Given the description of an element on the screen output the (x, y) to click on. 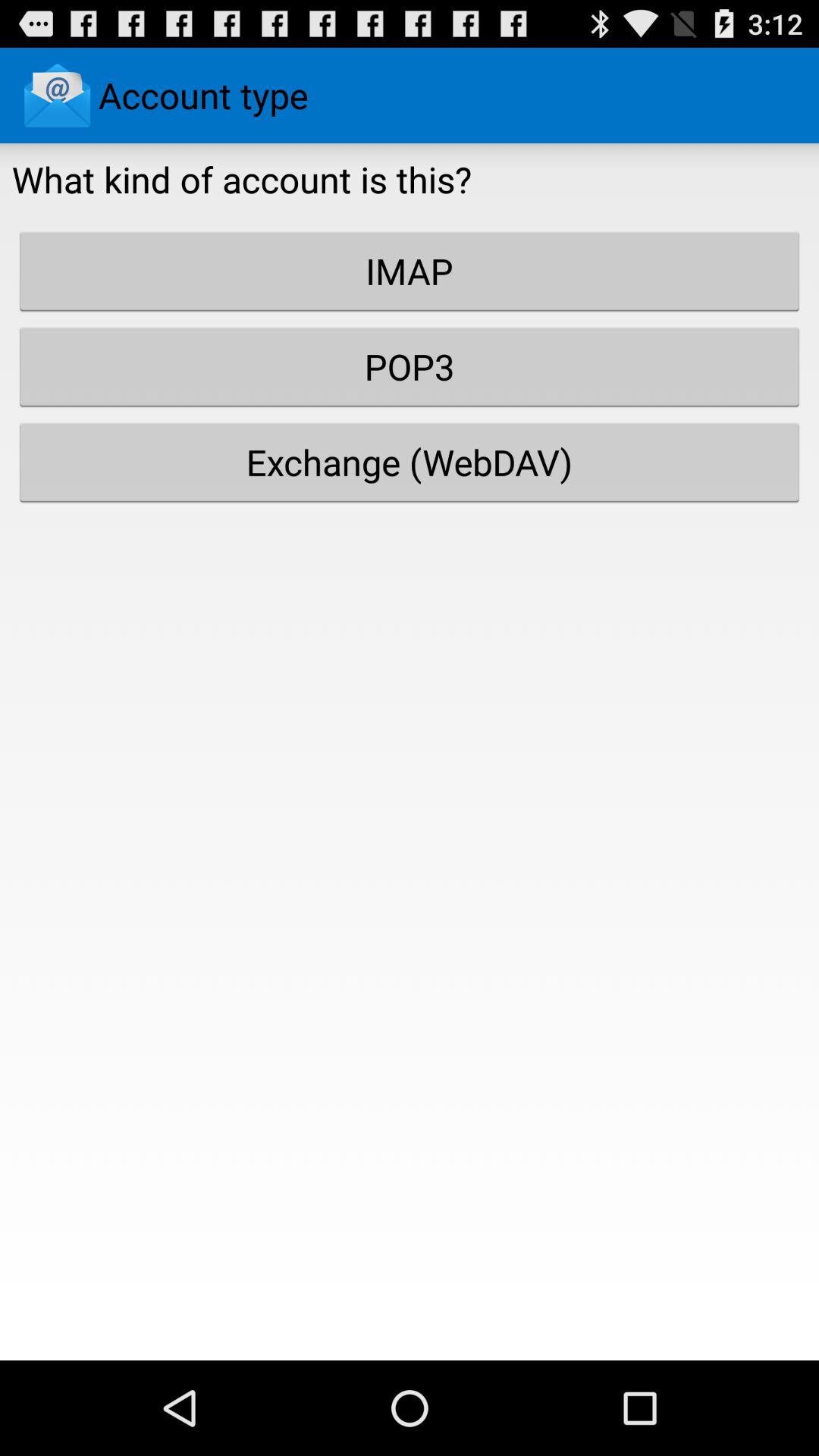
jump until exchange (webdav) icon (409, 462)
